Given the description of an element on the screen output the (x, y) to click on. 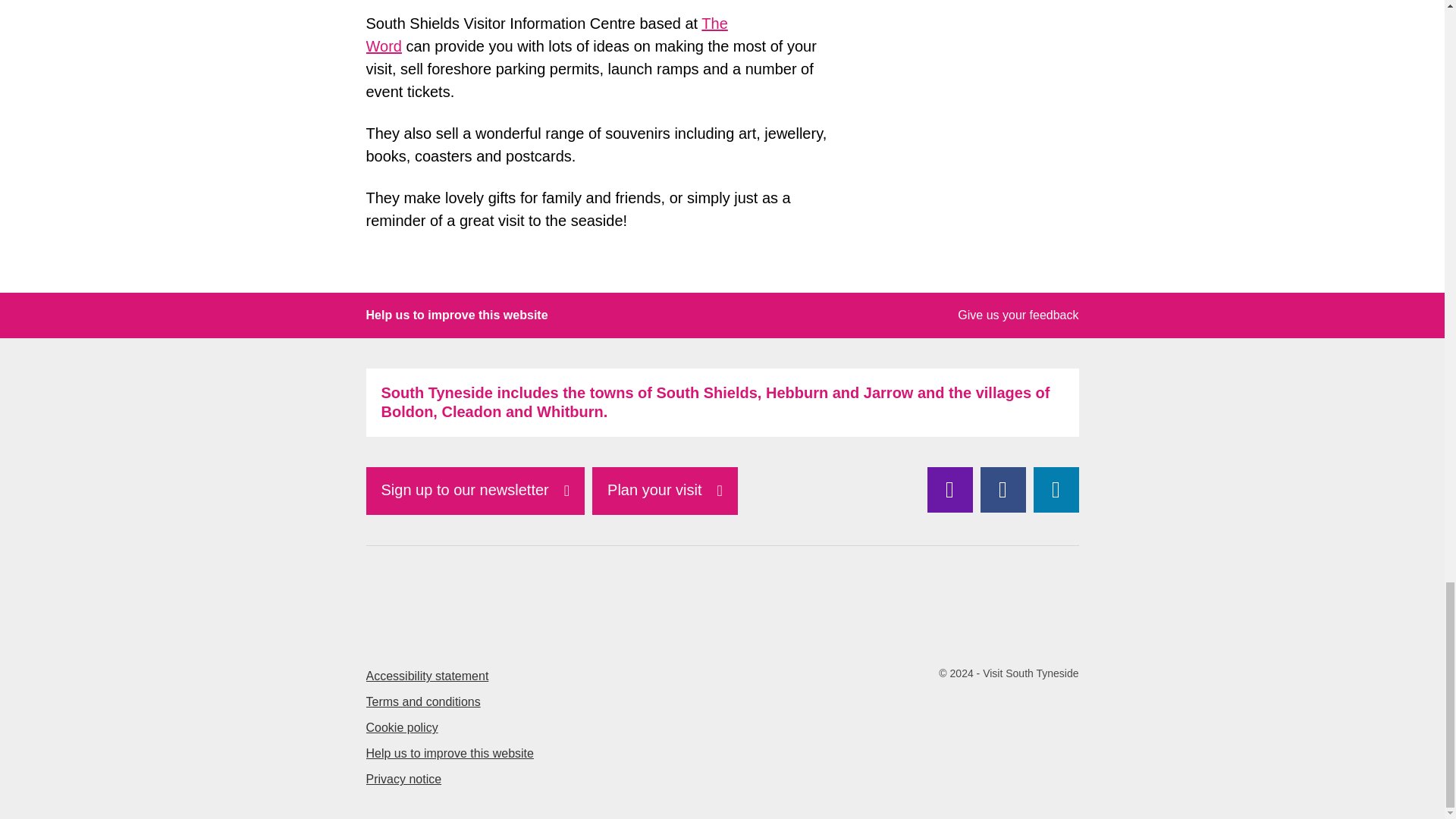
Help us to improve this website (448, 753)
South Tyneside Events Facebook (1002, 489)
South Tyneside Events Instagram (949, 489)
Give us your feedback (1018, 314)
Accessibility statement (426, 675)
Terms and conditions (422, 701)
The Word (545, 34)
Cookie policy (401, 727)
Plan your visit (665, 490)
Sign up to our newsletter (475, 490)
